Given the description of an element on the screen output the (x, y) to click on. 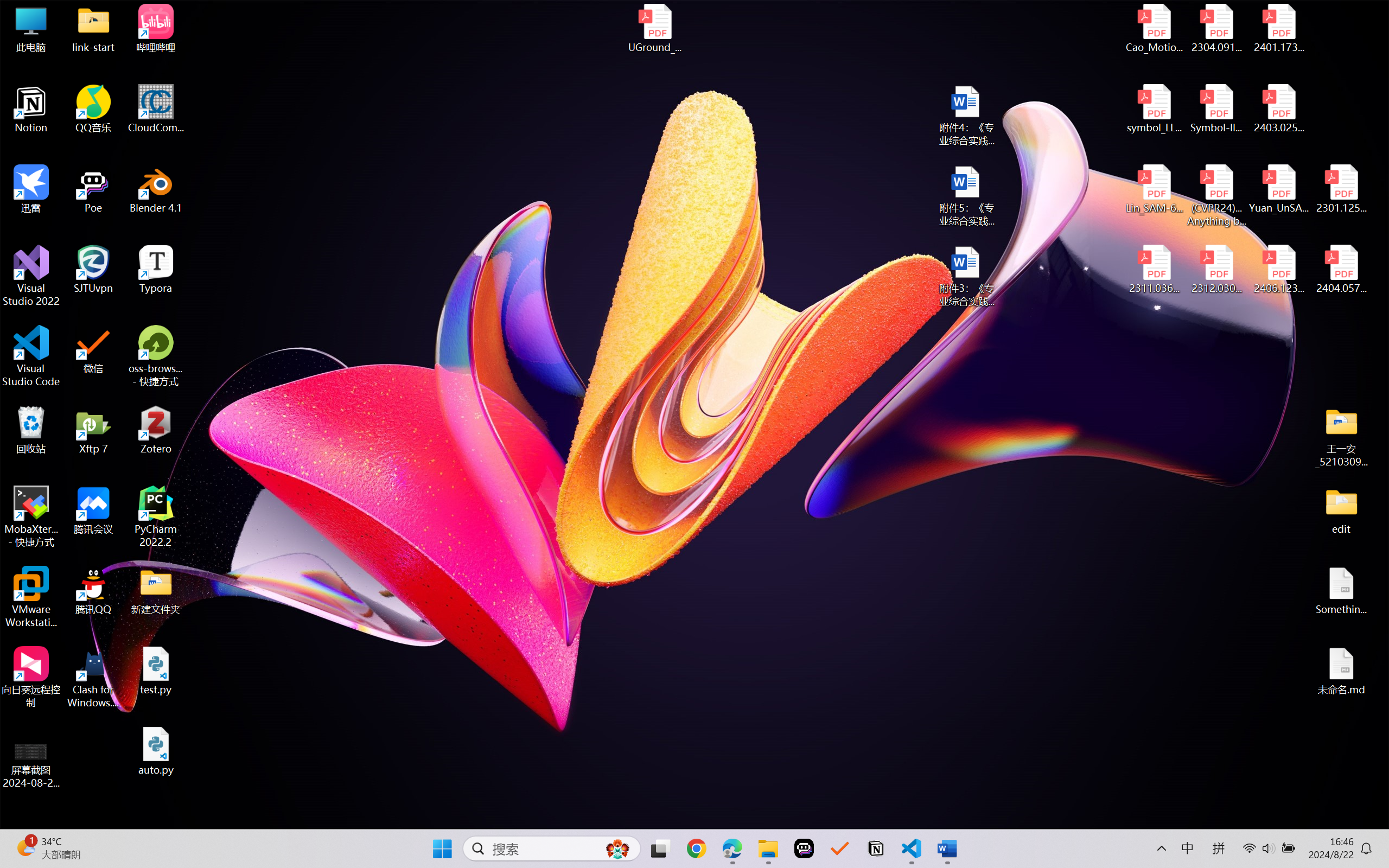
2311.03658v2.pdf (1154, 269)
test.py (156, 670)
2304.09121v3.pdf (1216, 28)
